Given the description of an element on the screen output the (x, y) to click on. 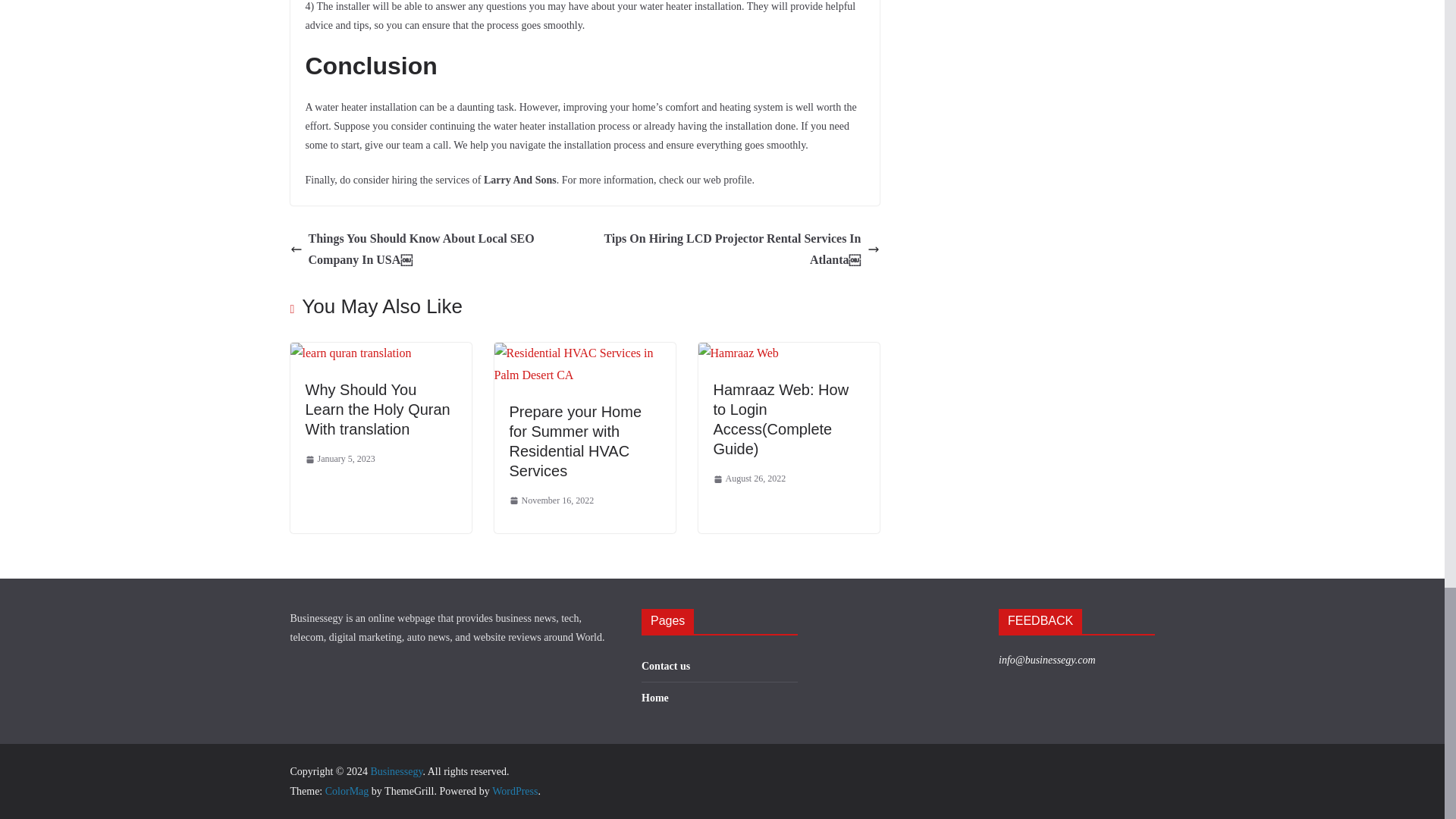
Why Should You Learn the Holy Quran With translation (376, 409)
Prepare your Home for Summer with Residential HVAC Services (575, 441)
January 5, 2023 (339, 459)
Why Should You Learn the Holy Quran With translation (376, 409)
Prepare your Home for Summer with Residential HVAC Services (585, 352)
November 16, 2022 (551, 501)
12:59 pm (339, 459)
August 26, 2022 (749, 478)
Why Should You Learn the Holy Quran With translation (349, 352)
